Given the description of an element on the screen output the (x, y) to click on. 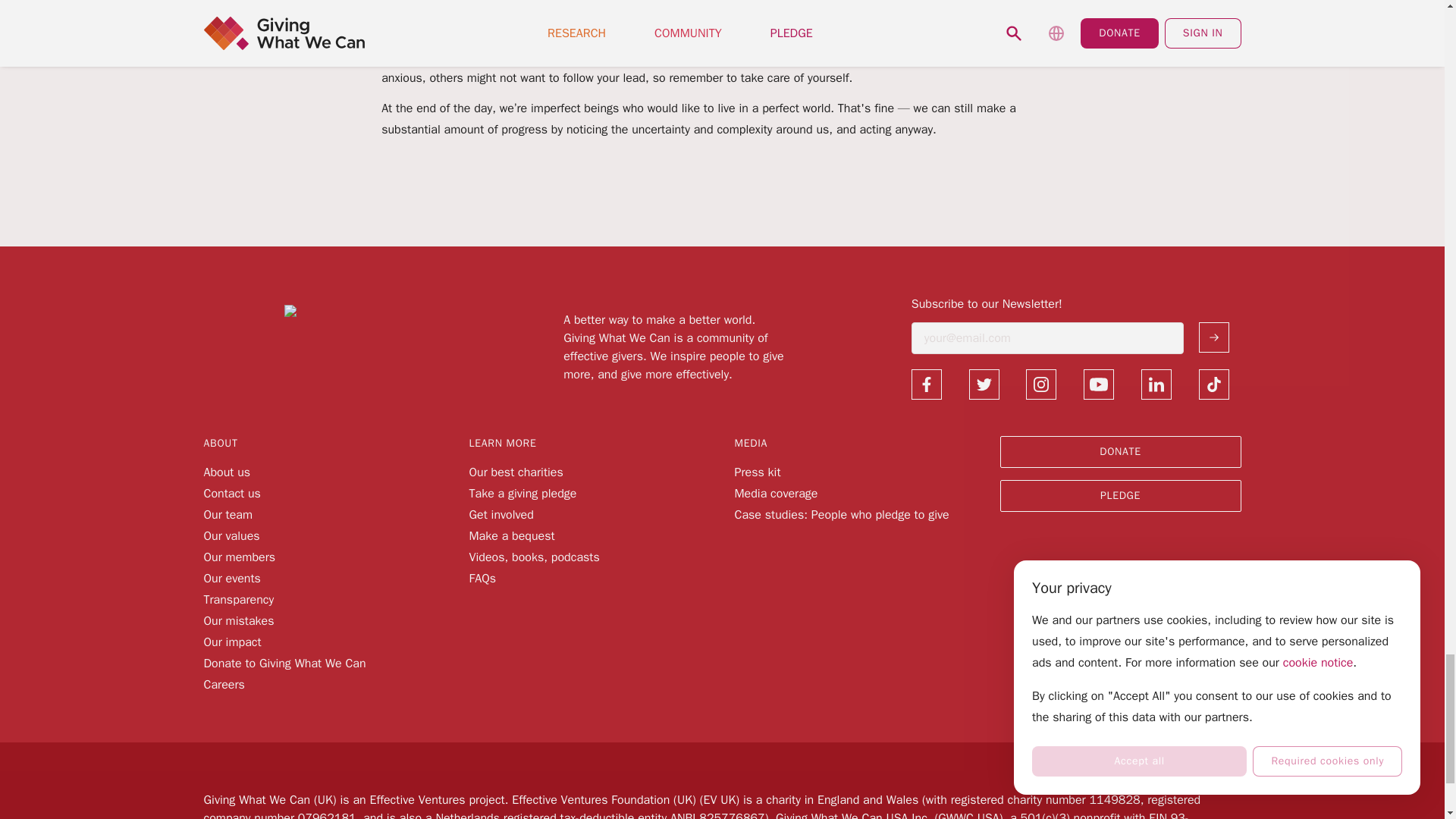
Our team (227, 514)
Youtube (1098, 384)
Contact us (231, 493)
LinkedIn (1156, 384)
About us (226, 472)
Submit (1213, 337)
Twitter (983, 384)
Our values (231, 535)
Tick Tock (1213, 384)
Facebook (926, 384)
Instagram (1041, 384)
